Given the description of an element on the screen output the (x, y) to click on. 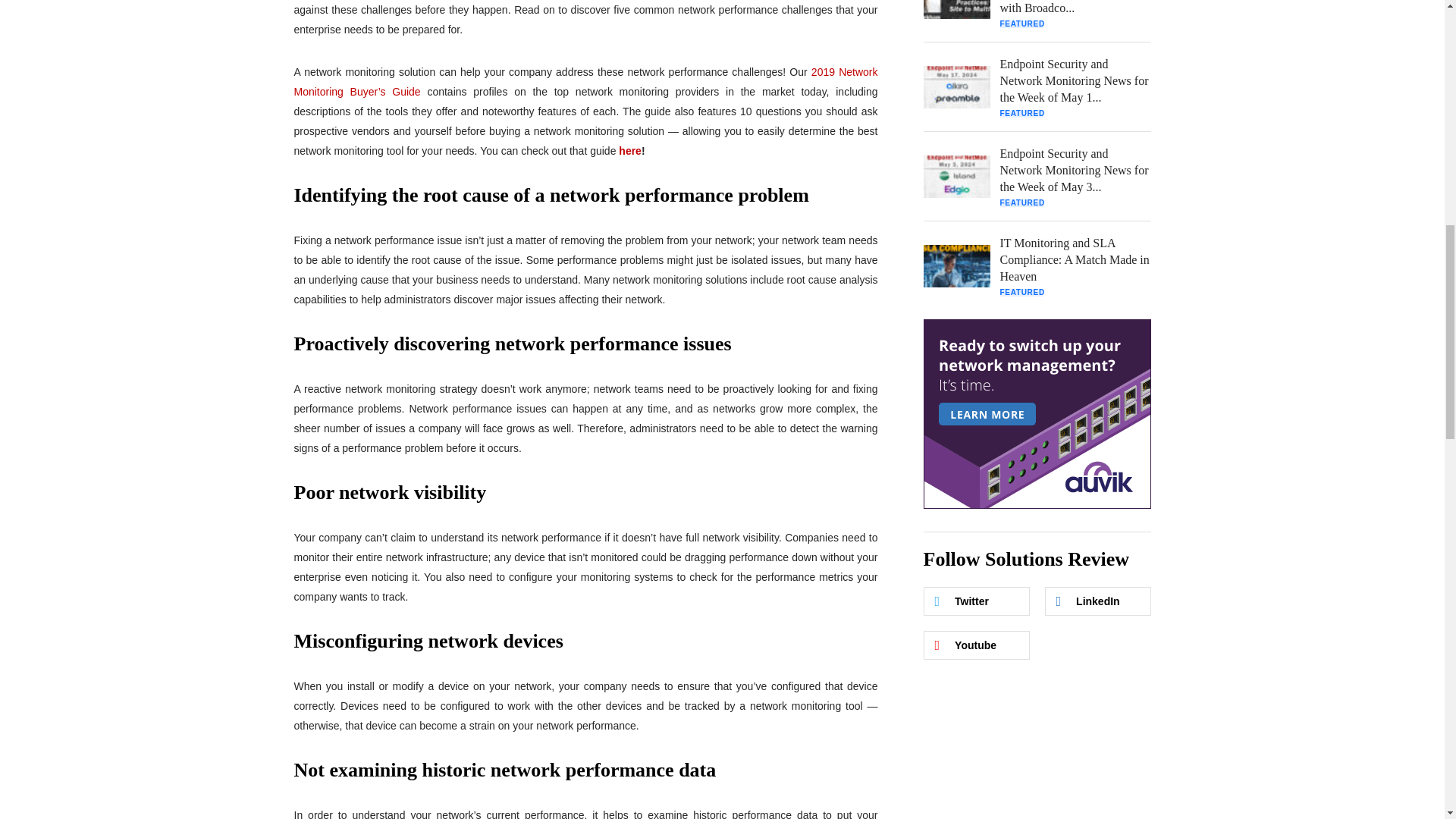
here (630, 150)
